Given the description of an element on the screen output the (x, y) to click on. 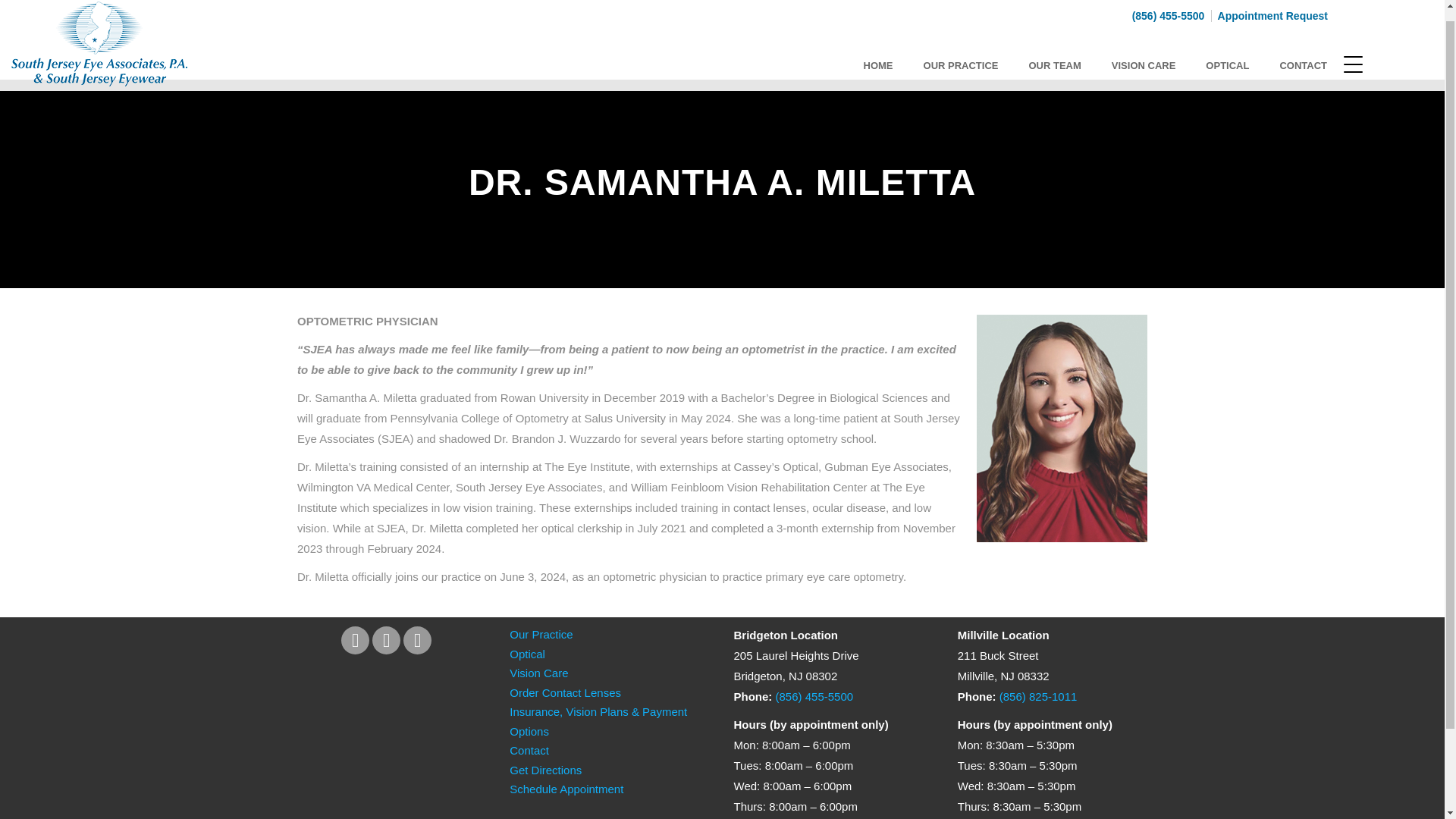
Contact (528, 749)
Appointment Request (1270, 5)
CONTACT (1302, 54)
Instagram (416, 640)
Get Directions (544, 769)
Schedule Appointment (566, 788)
Vision Care (538, 672)
YouTube (386, 640)
Order Contact Lenses (565, 692)
OPTICAL (1227, 54)
OUR PRACTICE (960, 54)
OUR TEAM (1054, 54)
Optical (526, 653)
Our Practice (540, 634)
HOME (878, 54)
